Given the description of an element on the screen output the (x, y) to click on. 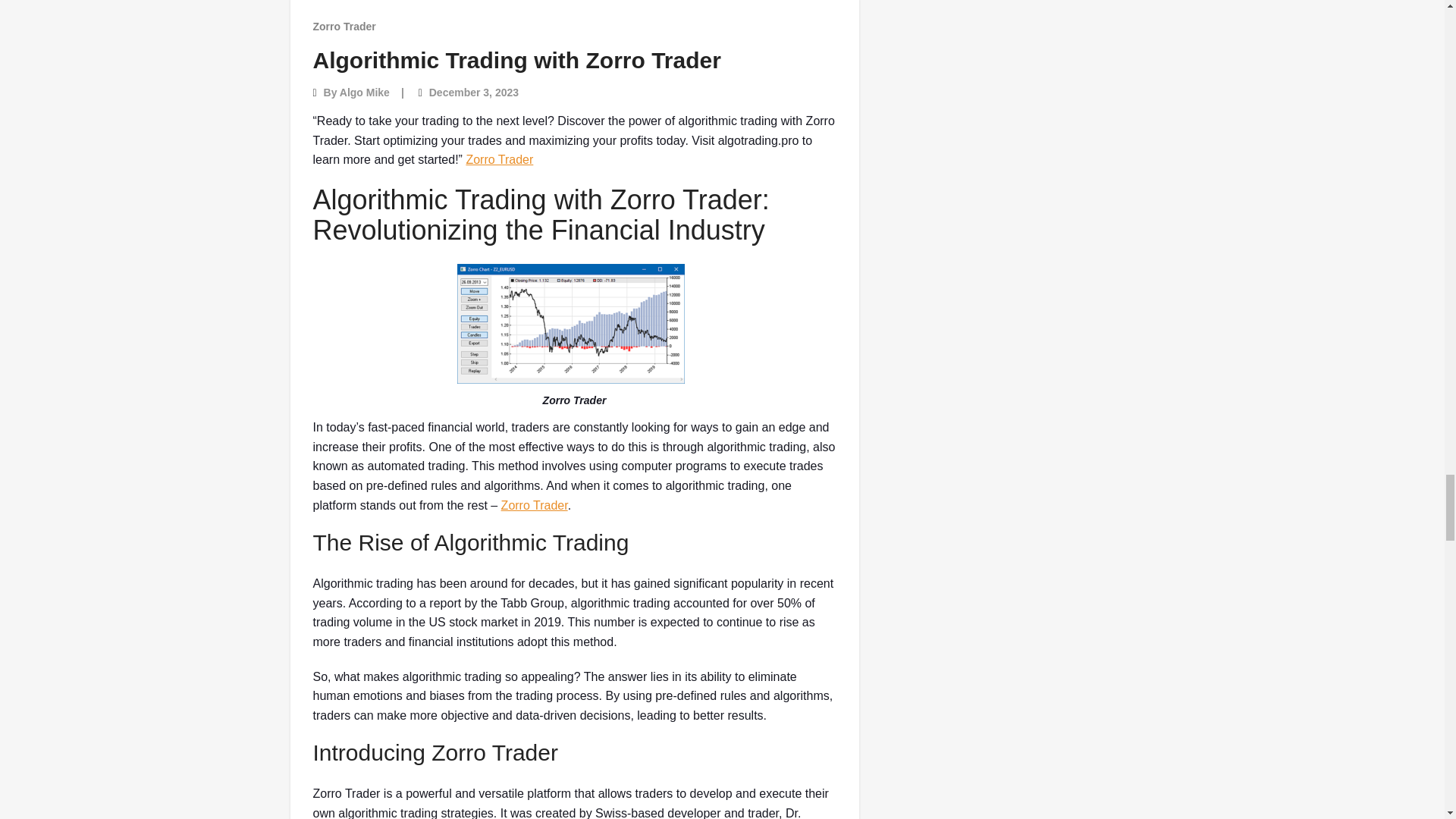
Algo Mike (364, 92)
Zorro Trader (533, 504)
Zorro Trader (498, 159)
December 3, 2023 (473, 92)
Zorro Trader (344, 26)
Algorithmic Trading with Zorro Trader (516, 59)
